Given the description of an element on the screen output the (x, y) to click on. 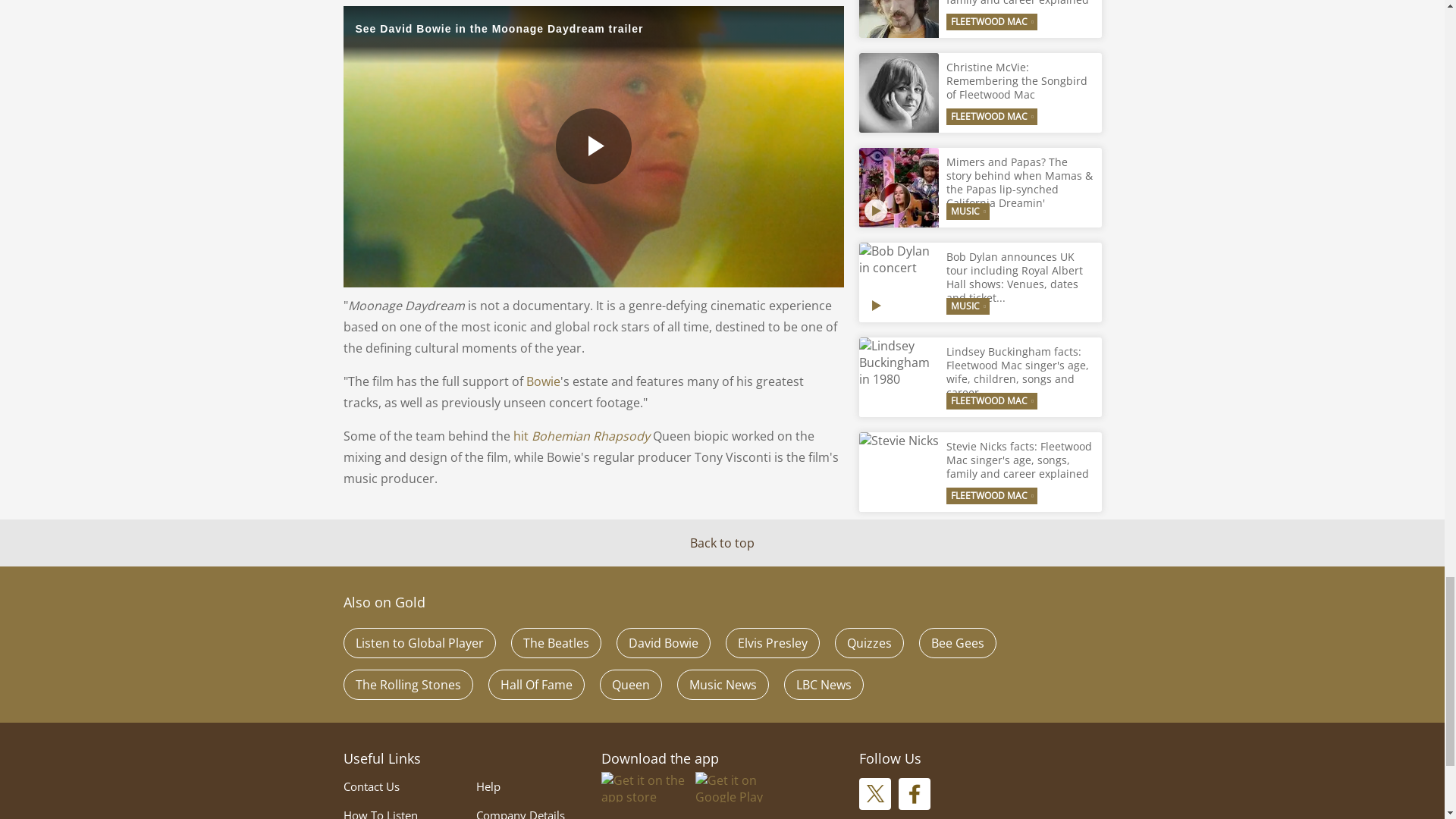
Follow Gold on Facebook (914, 793)
Follow Gold on X (874, 793)
Back to top (722, 542)
Bowie (542, 381)
hit Bohemian Rhapsody (582, 435)
